Given the description of an element on the screen output the (x, y) to click on. 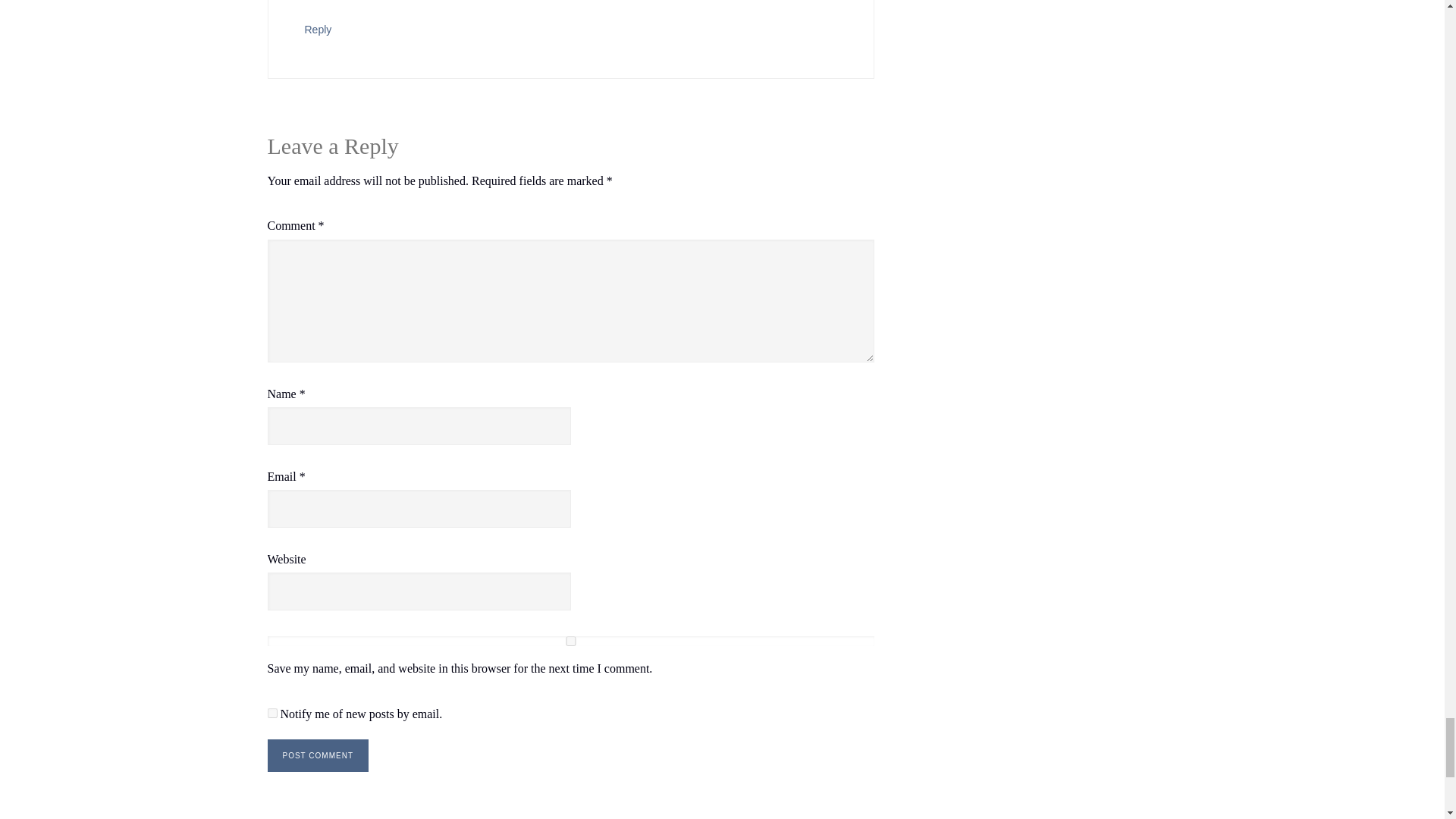
subscribe (271, 713)
Post Comment (317, 755)
yes (569, 641)
